Given the description of an element on the screen output the (x, y) to click on. 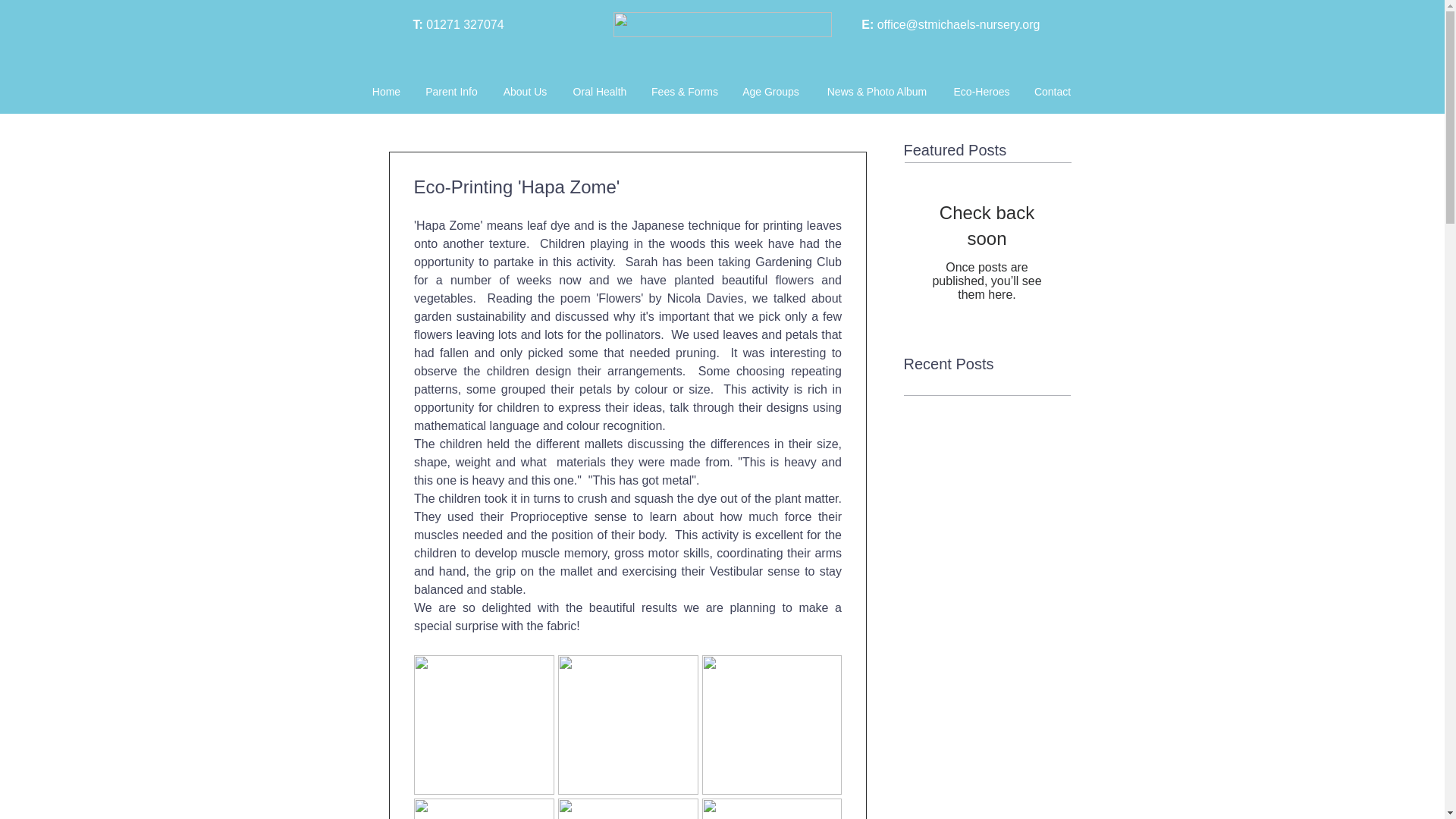
Contact (1052, 91)
Oral Health (599, 91)
Parent Info (451, 91)
LOGOWHITE.png (721, 24)
Home (385, 91)
01271 327074 (464, 24)
